Given the description of an element on the screen output the (x, y) to click on. 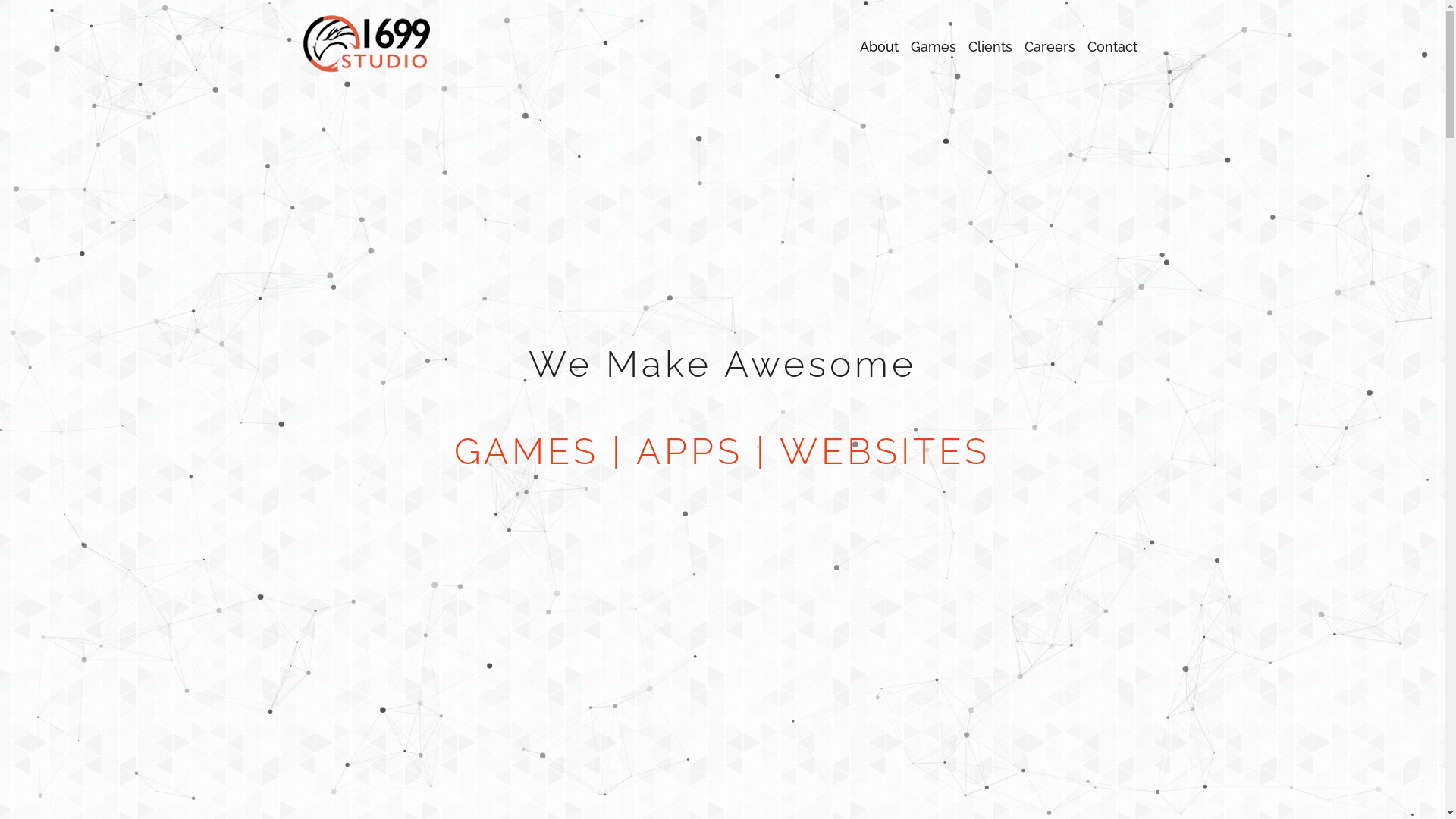
Clients Element type: text (989, 46)
Contact Element type: text (1112, 46)
Careers Element type: text (1048, 46)
About Element type: text (878, 46)
Games Element type: text (932, 46)
